Given the description of an element on the screen output the (x, y) to click on. 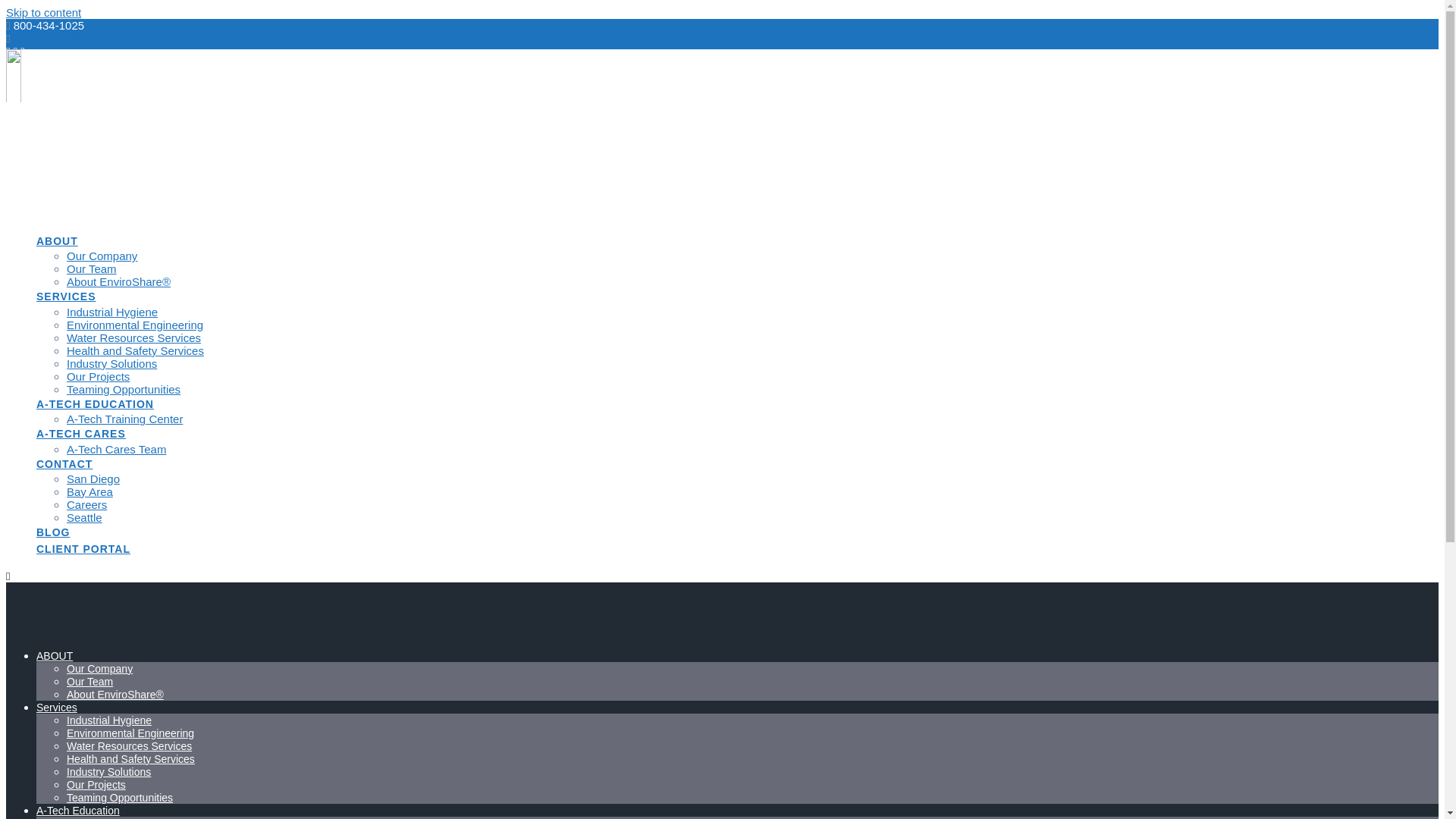
SERVICES (66, 297)
Services (56, 707)
Industrial Hygiene (108, 720)
Our Projects (97, 376)
Water Resources Services (133, 337)
Environmental Engineering (134, 324)
A-Tech Cares Team (115, 449)
Industry Solutions (111, 363)
Health and Safety Services (134, 350)
Skip to content (43, 11)
